Given the description of an element on the screen output the (x, y) to click on. 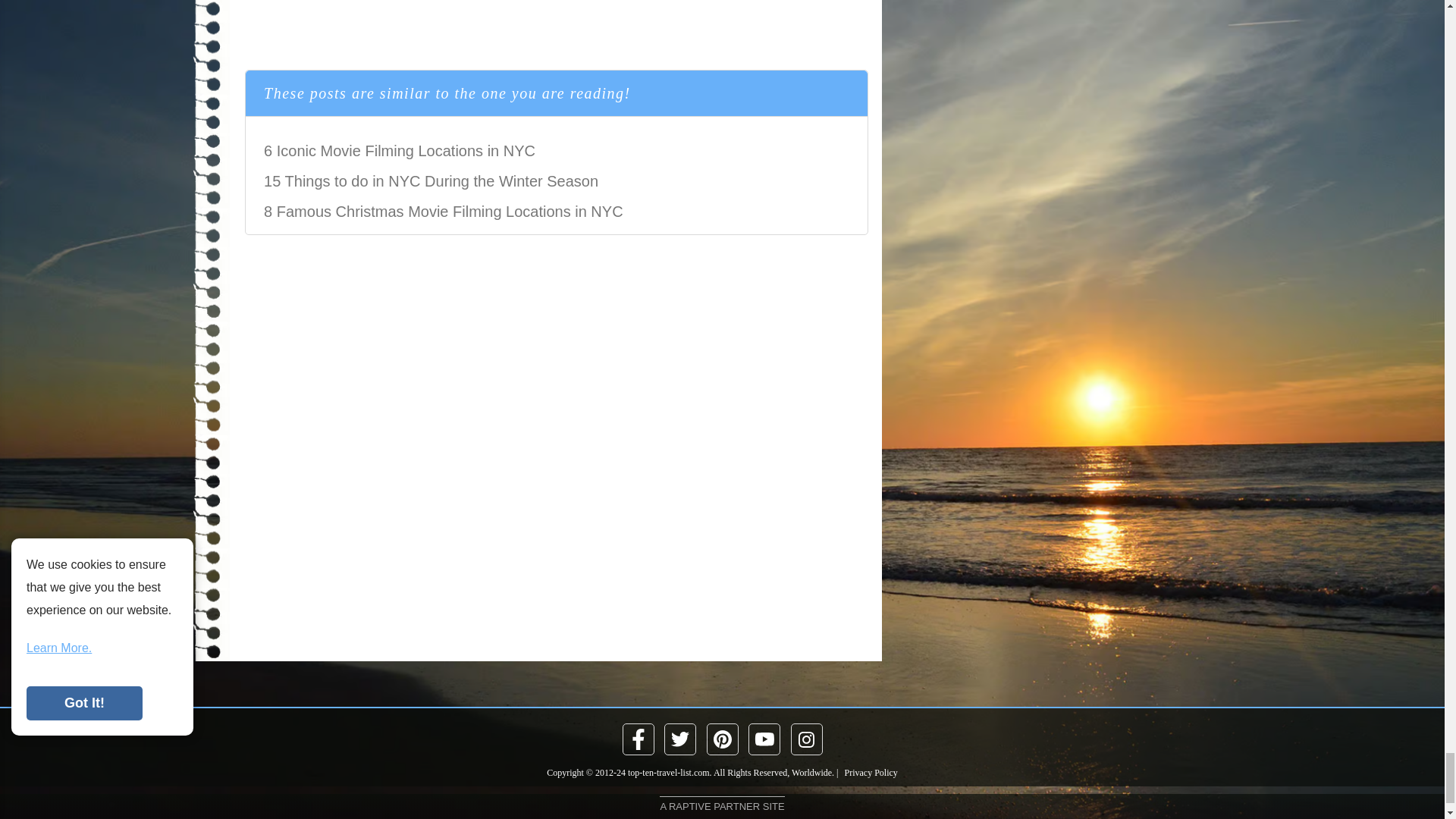
Top Ten Travel List on Youtube (763, 739)
Top Ten Travel List on Facebook (638, 739)
Top Ten Travel List on Instagram (807, 739)
Top Ten Travel List on Twitter (680, 739)
Top Ten Travel List on Pinterest (721, 739)
